Given the description of an element on the screen output the (x, y) to click on. 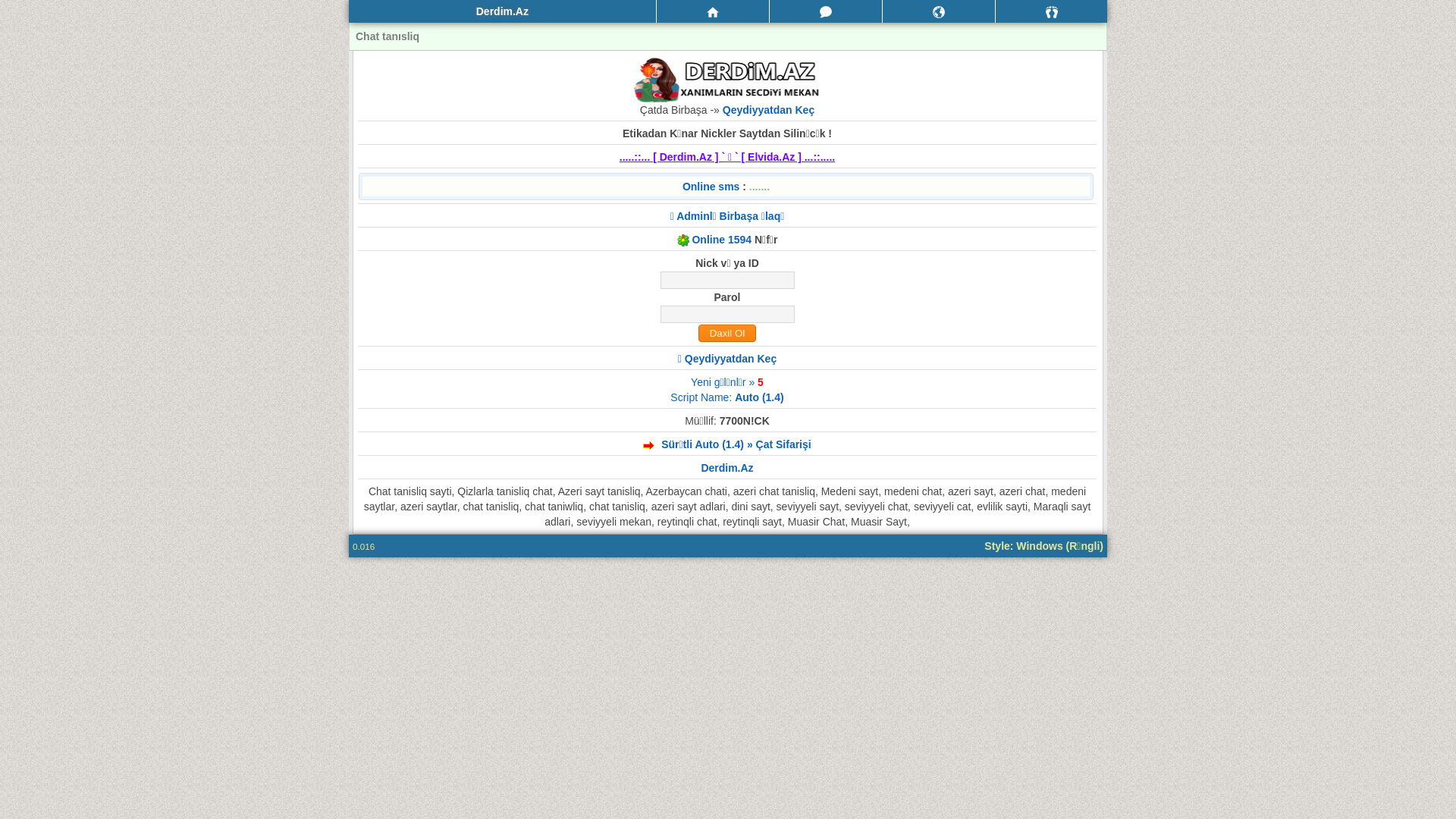
1594 Element type: text (739, 239)
Qonaqlar Element type: hover (1051, 11)
Daxil Ol Element type: text (726, 333)
Bildirisler Element type: hover (938, 11)
nick Element type: hover (726, 279)
Mesajlar Element type: hover (825, 11)
Online Element type: text (726, 244)
Auto (1.4) Element type: text (759, 397)
Derdim.Az Element type: text (726, 467)
0.016 Element type: text (363, 546)
Parol Element type: hover (726, 314)
Online sms Element type: text (710, 186)
